Given the description of an element on the screen output the (x, y) to click on. 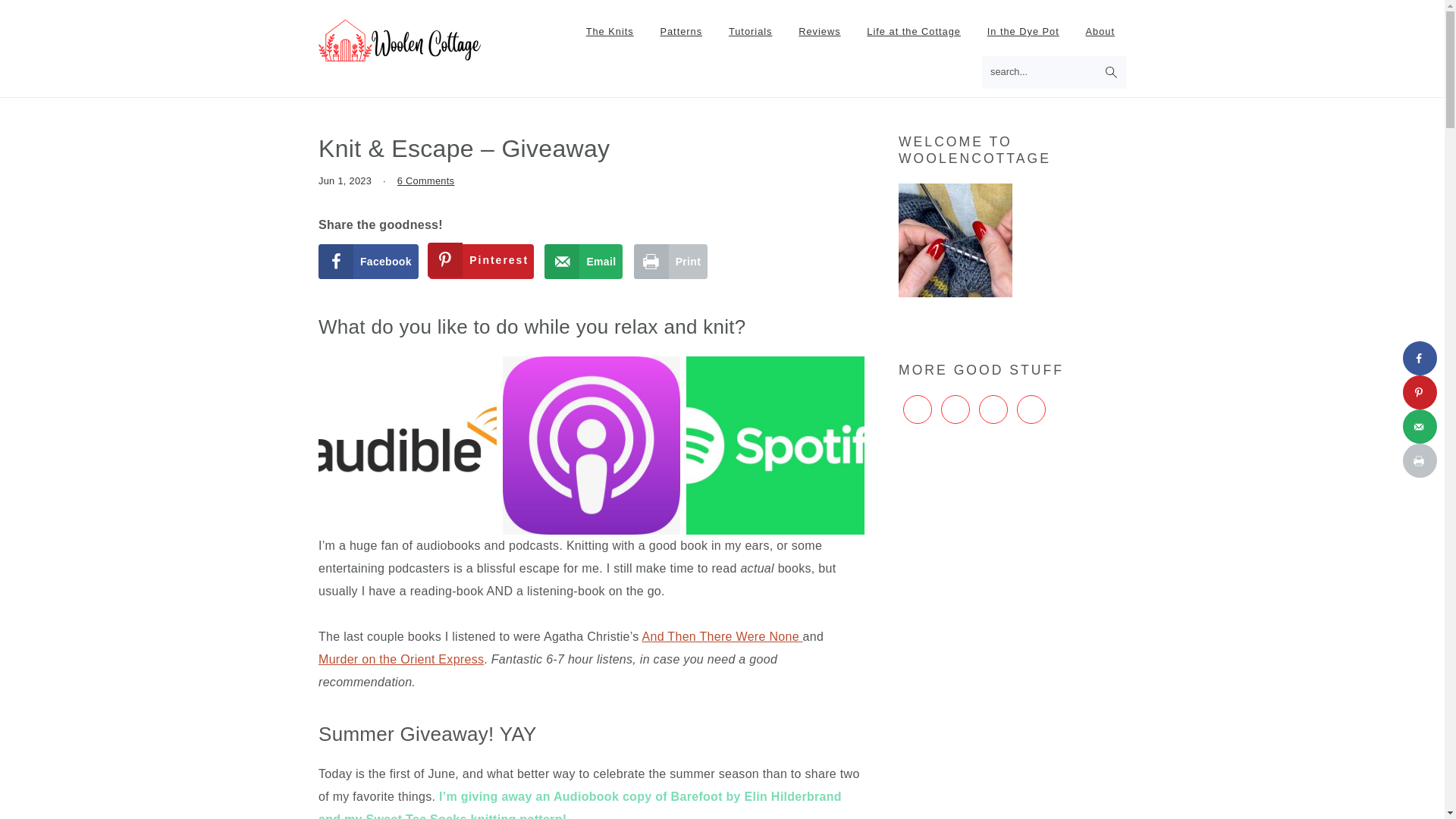
6 Comments (425, 180)
Life at the Cottage (914, 32)
Print this webpage (670, 261)
Patterns (680, 32)
The Knits (610, 32)
Share on Facebook (368, 261)
In the Dye Pot (1022, 32)
Tutorials (750, 32)
Reviews (819, 32)
WoolenCottage (399, 40)
